Given the description of an element on the screen output the (x, y) to click on. 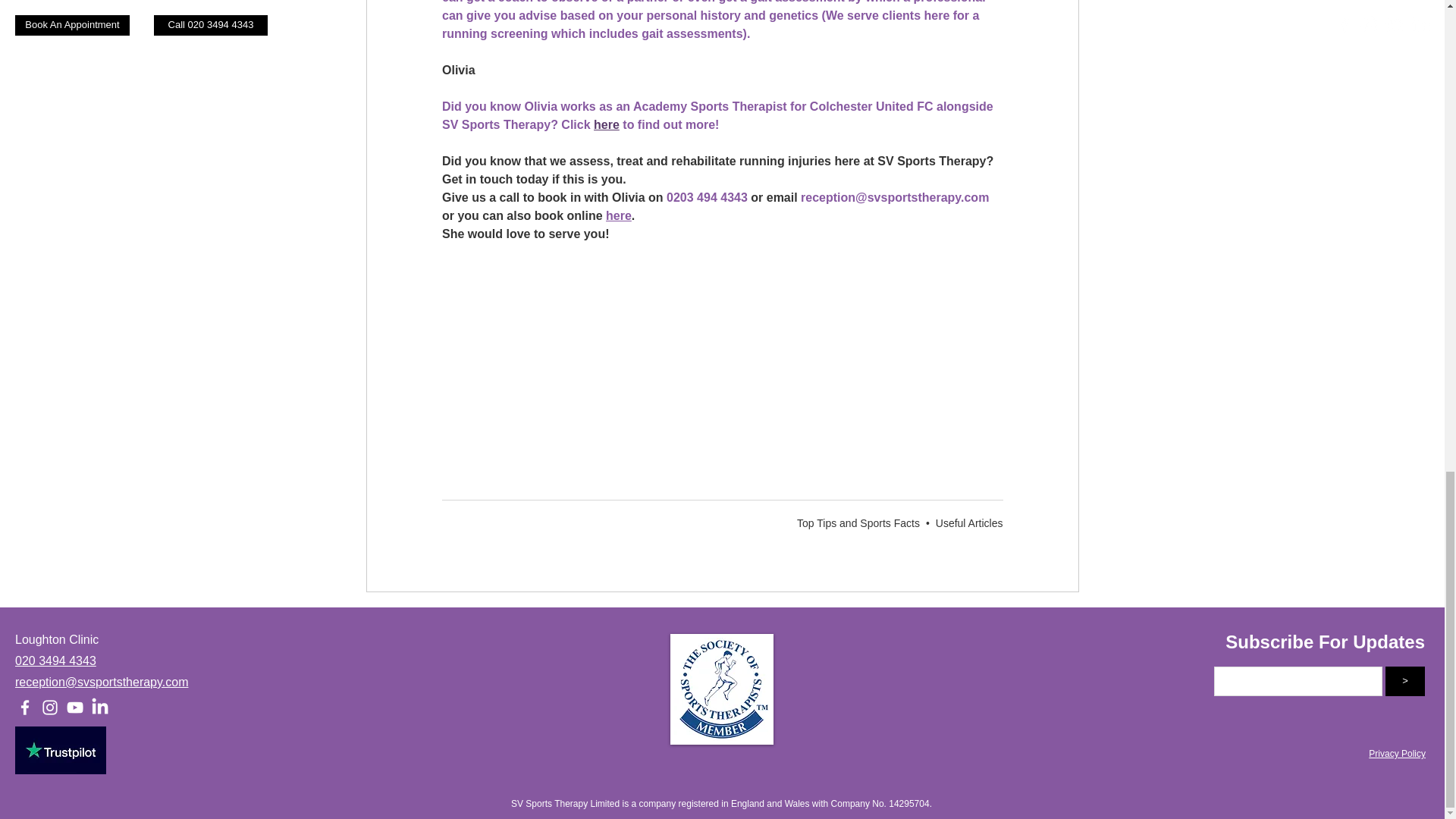
Top Tips and Sports Facts (858, 522)
Useful Articles (969, 522)
here (618, 215)
here (607, 124)
